Given the description of an element on the screen output the (x, y) to click on. 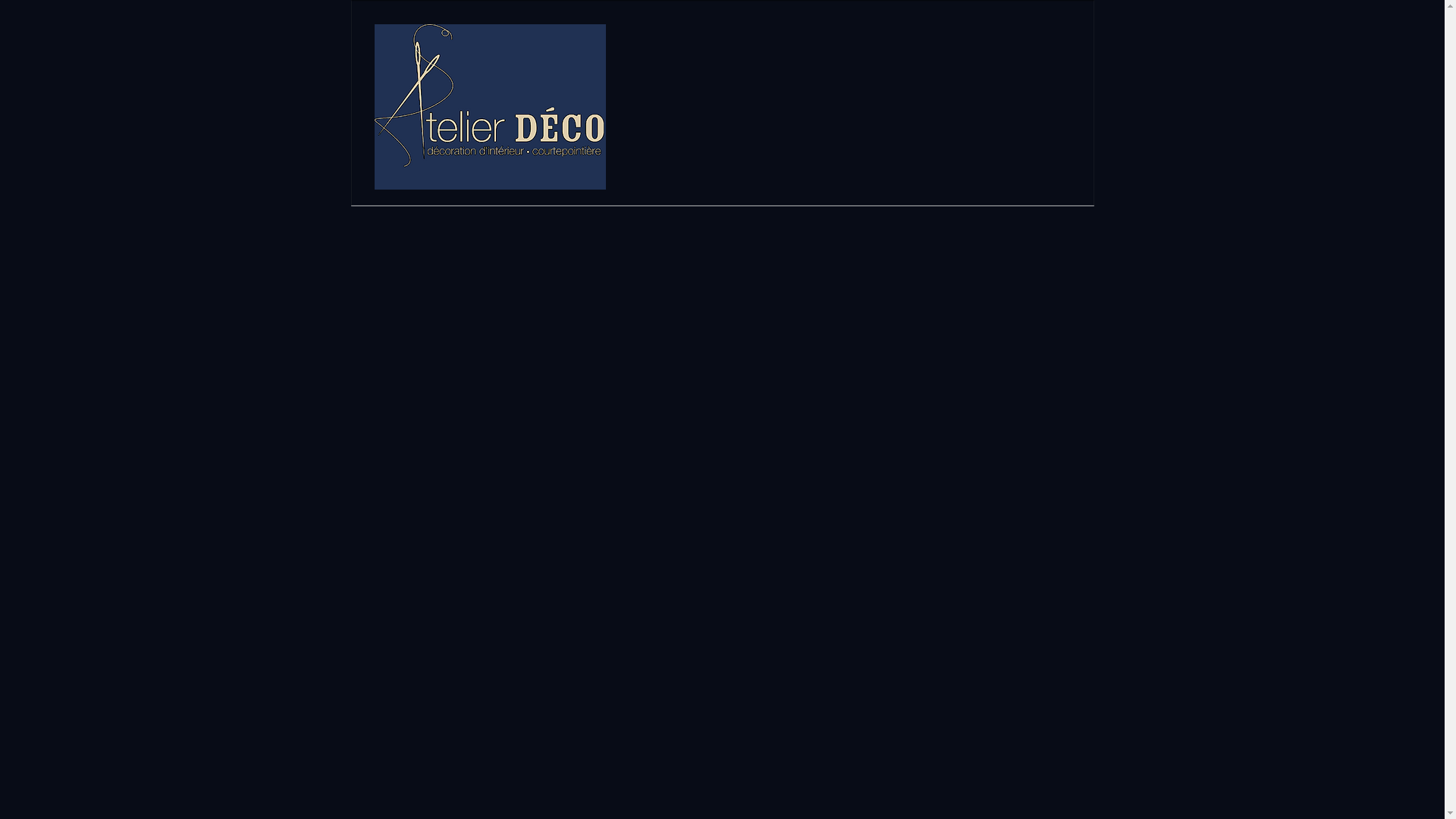
logo.png Element type: hover (489, 106)
